Given the description of an element on the screen output the (x, y) to click on. 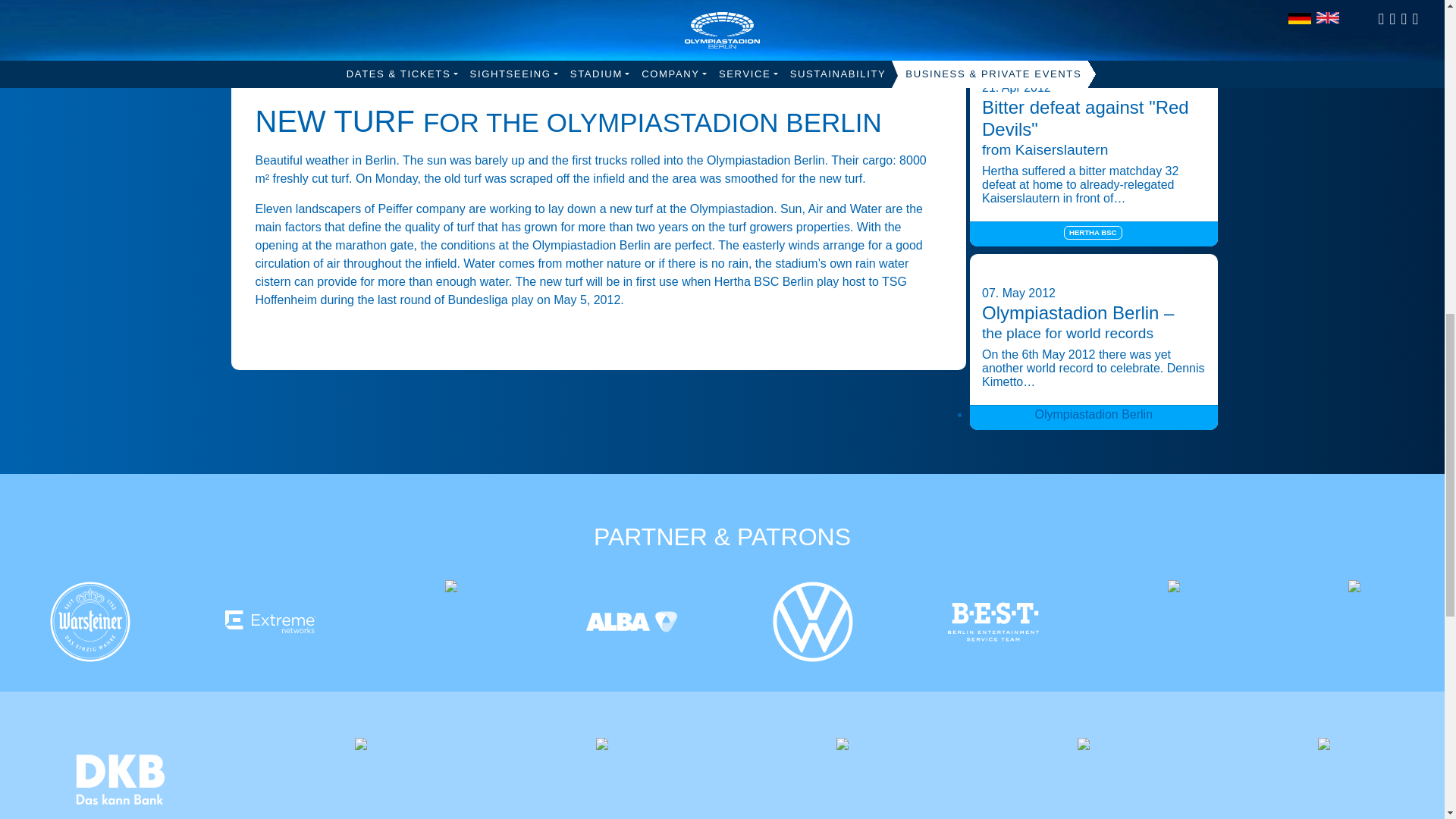
START (274, 81)
